Given the description of an element on the screen output the (x, y) to click on. 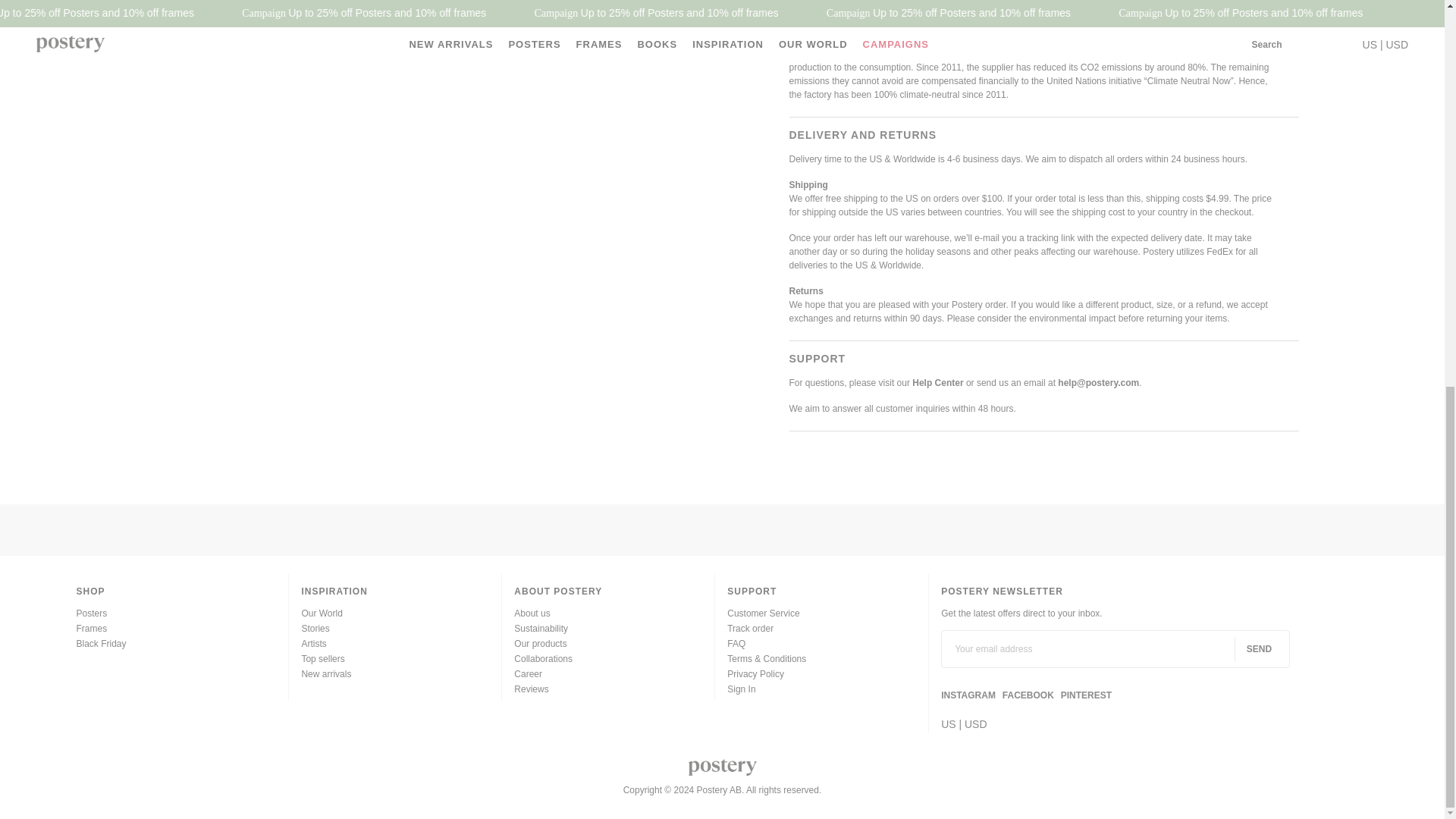
Frames (90, 628)
Posters (90, 613)
Customer reviews powered by Trustpilot (721, 534)
Our World (321, 613)
Stories (315, 628)
Black Friday Posters (100, 643)
